Given the description of an element on the screen output the (x, y) to click on. 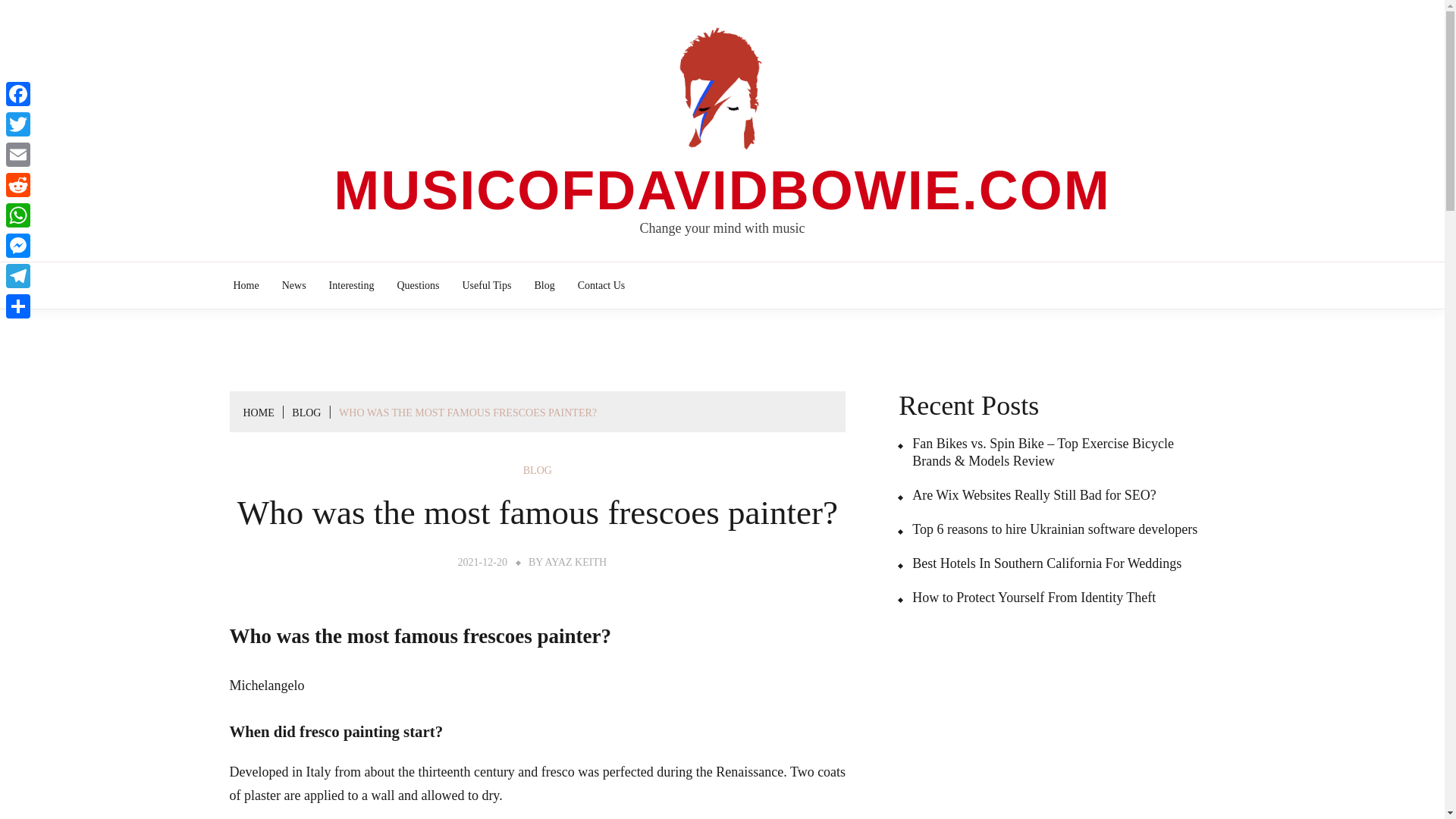
Telegram (17, 276)
HOME (258, 412)
Twitter (17, 123)
2021-12-20 (482, 562)
Email (17, 154)
Facebook (17, 93)
Twitter (17, 123)
Facebook (17, 93)
WHO WAS THE MOST FAMOUS FRESCOES PAINTER? (467, 412)
Are Wix Websites Really Still Bad for SEO? (1027, 495)
